Given the description of an element on the screen output the (x, y) to click on. 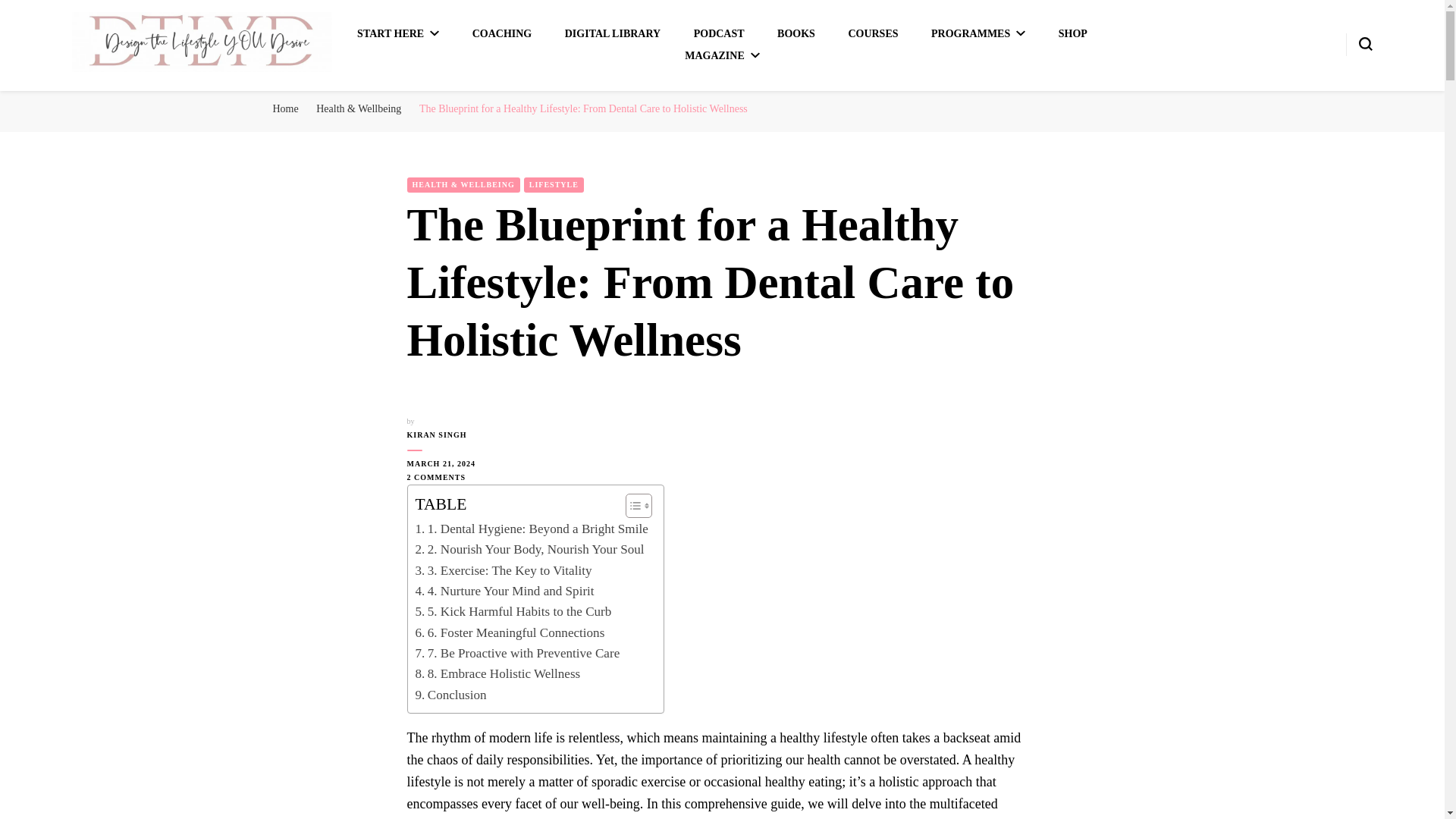
3. Exercise: The Key to Vitality (503, 570)
5. Kick Harmful Habits to the Curb (512, 611)
1. Dental Hygiene: Beyond a Bright Smile (530, 528)
8. Embrace Holistic Wellness (497, 673)
7. Be Proactive with Preventive Care (517, 652)
6. Foster Meaningful Connections (509, 632)
2. Nourish Your Body, Nourish Your Soul (529, 548)
4. Nurture Your Mind and Spirit (504, 590)
Conclusion (450, 694)
